Given the description of an element on the screen output the (x, y) to click on. 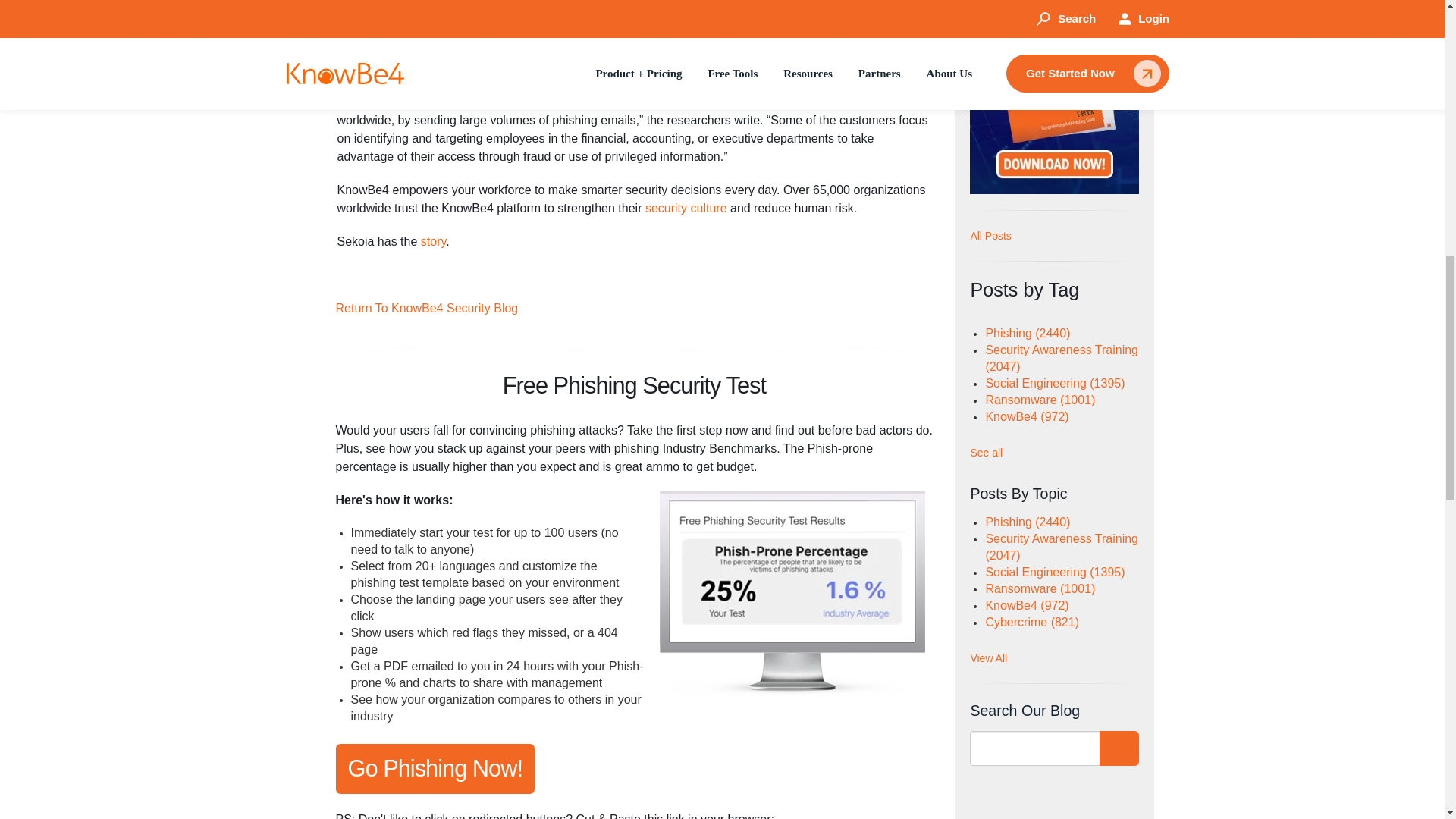
Go Phishing Now! (434, 768)
